Given the description of an element on the screen output the (x, y) to click on. 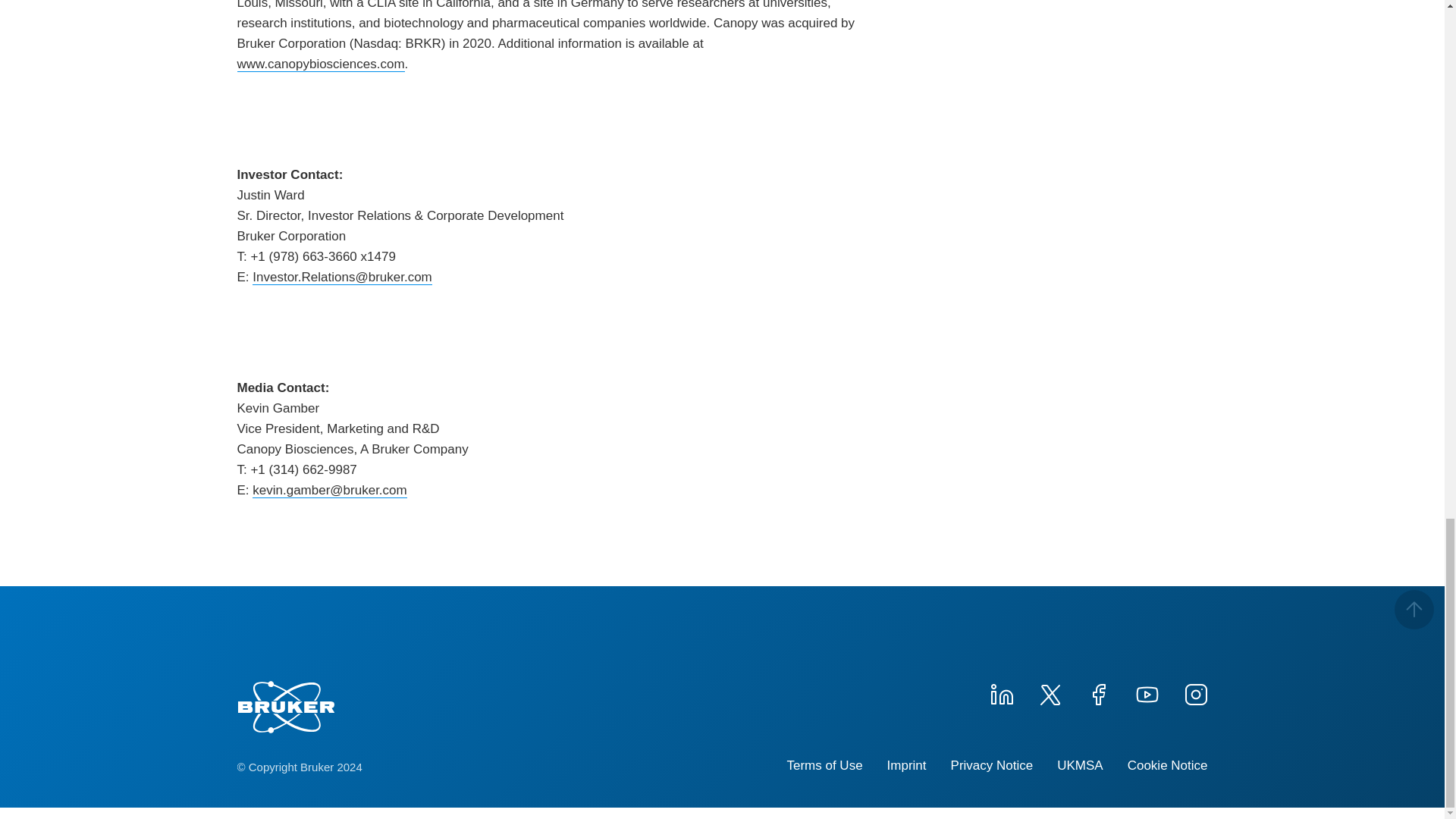
www.canopybiosciences.com (319, 64)
instagram (1194, 692)
facebook (1097, 692)
youtube (1146, 692)
Terms of Use (823, 765)
linkedin (1000, 692)
twitter (1048, 692)
